Given the description of an element on the screen output the (x, y) to click on. 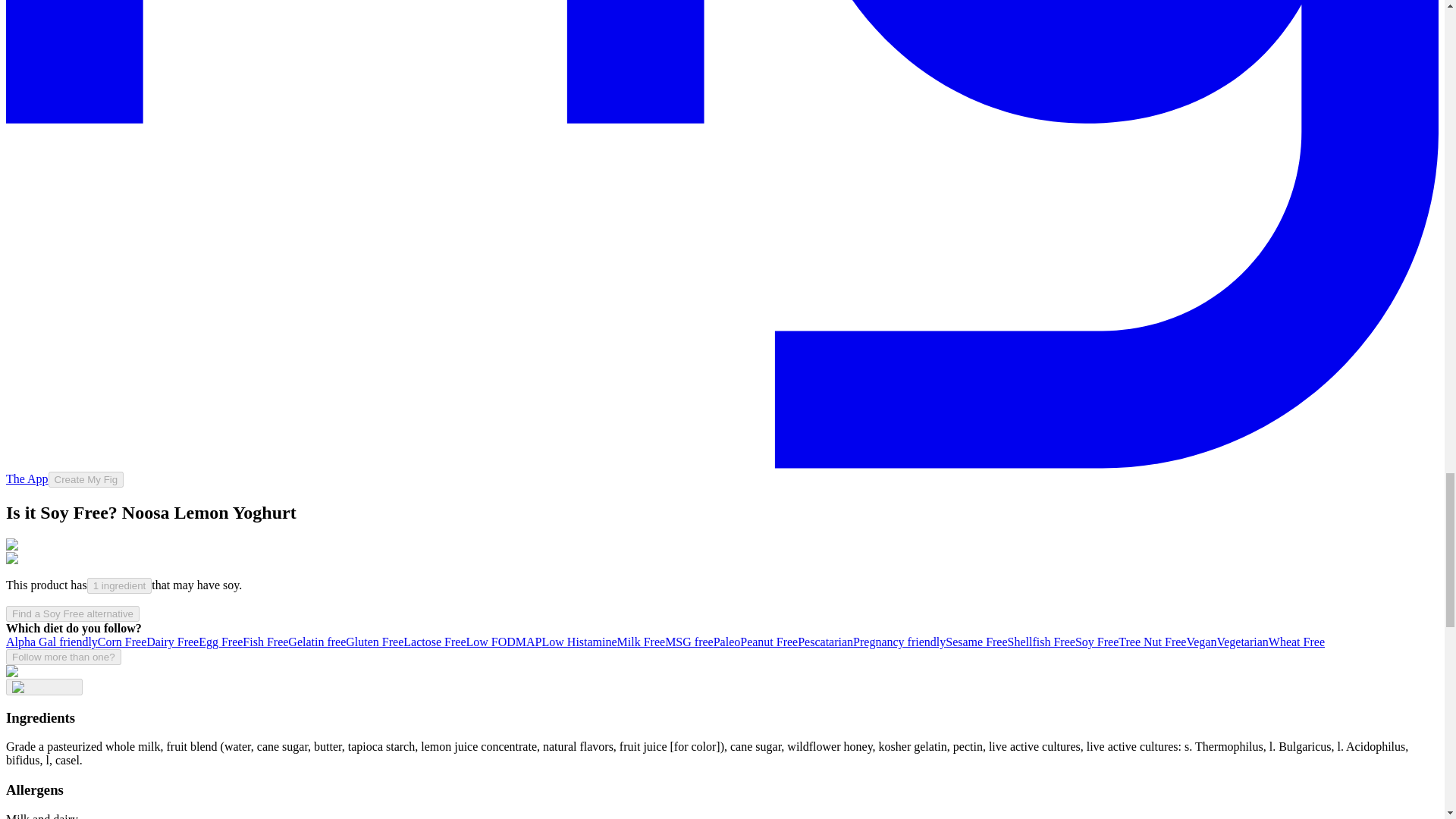
Pregnancy friendly (898, 641)
Paleo (727, 641)
Pescatarian (825, 641)
Peanut Free (768, 641)
Create My Fig (85, 479)
Gluten Free (374, 641)
Alpha Gal friendly (51, 641)
Gelatin free (317, 641)
Lactose Free (434, 641)
The App (26, 478)
Dairy Free (172, 641)
1 ingredient (119, 585)
Fish Free (265, 641)
Find a Soy Free alternative (72, 613)
Egg Free (220, 641)
